Given the description of an element on the screen output the (x, y) to click on. 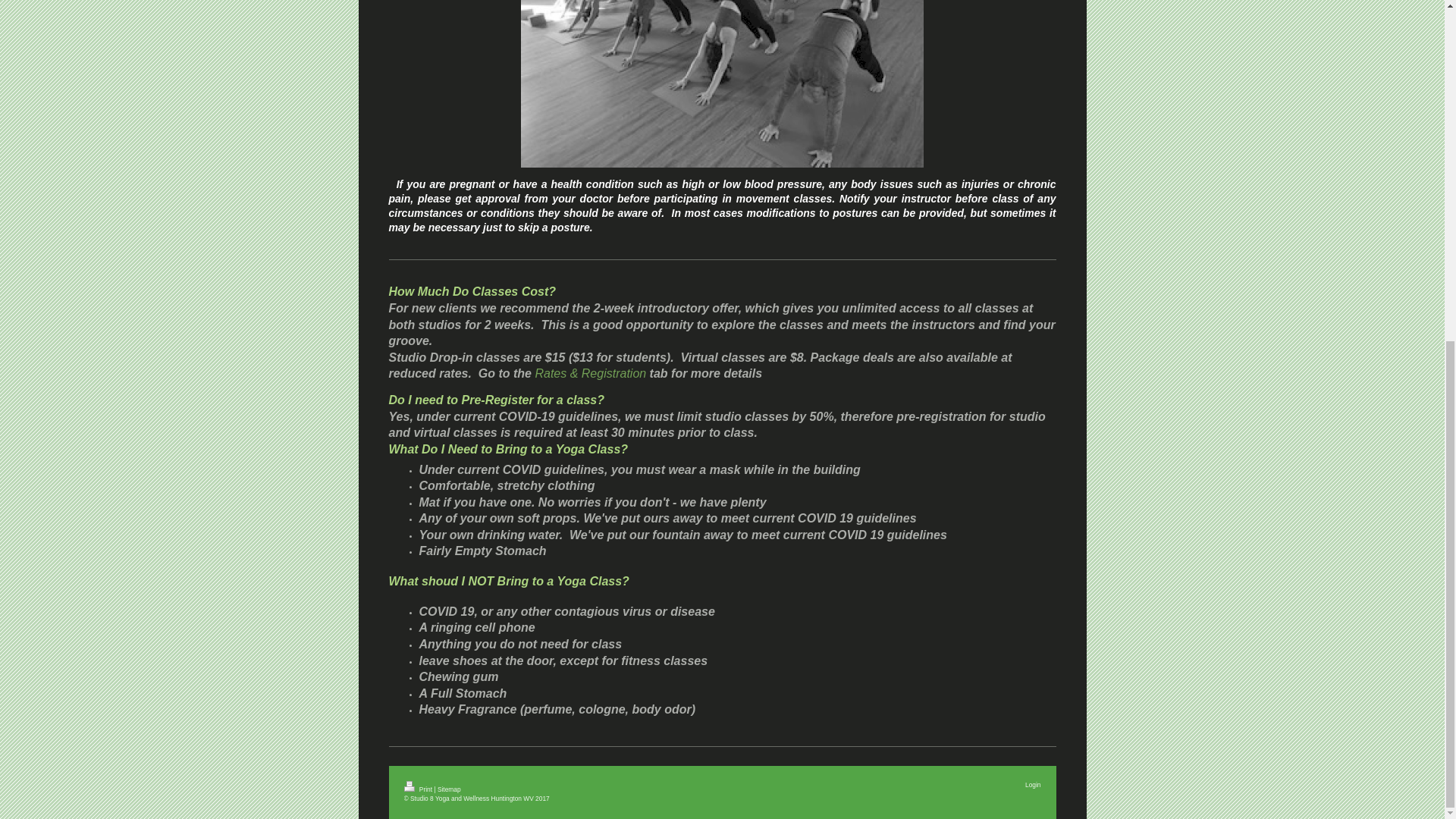
Sitemap (449, 789)
Login (1033, 784)
Print (418, 789)
